Given the description of an element on the screen output the (x, y) to click on. 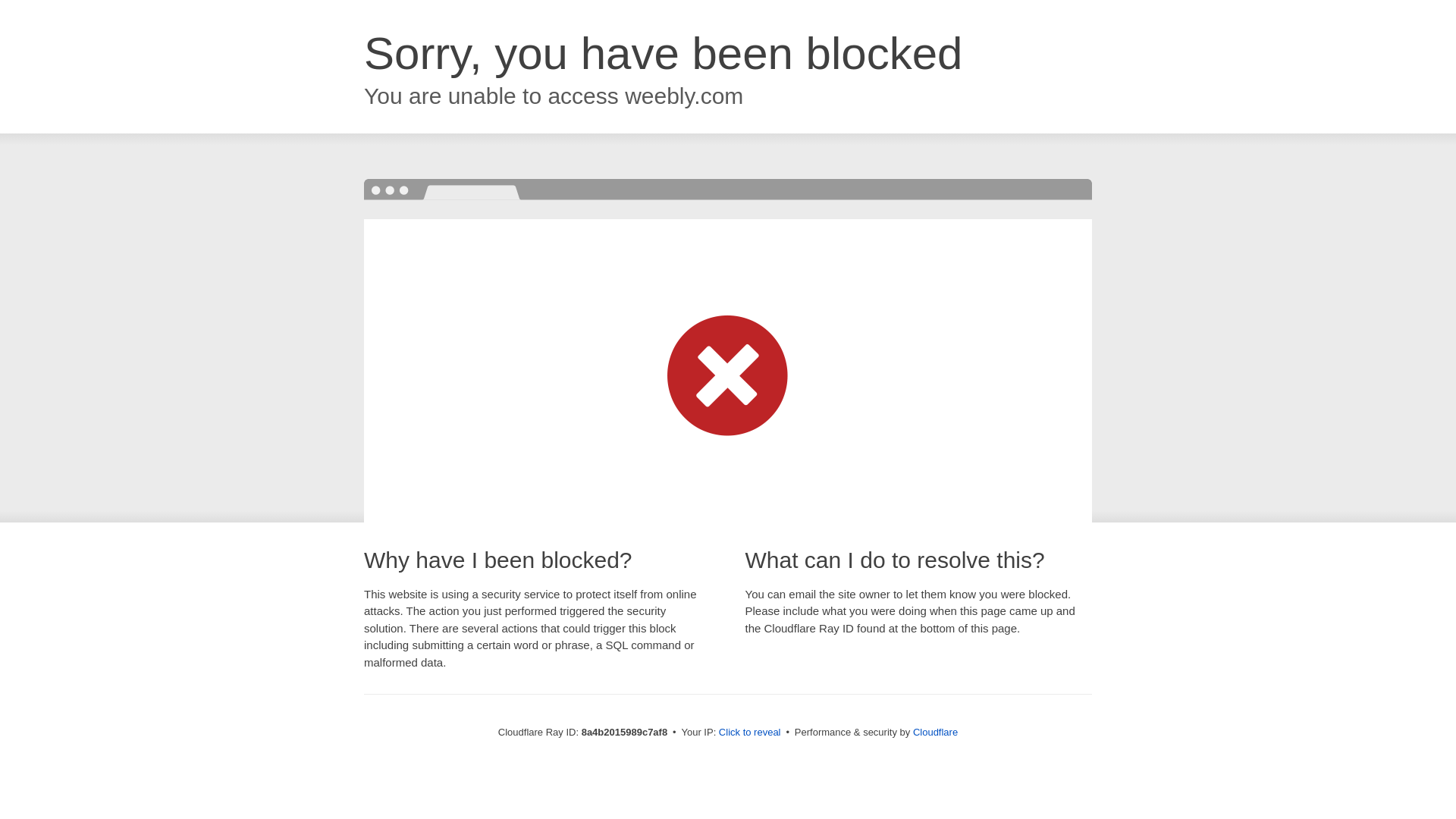
Cloudflare (935, 731)
Click to reveal (749, 732)
